Given the description of an element on the screen output the (x, y) to click on. 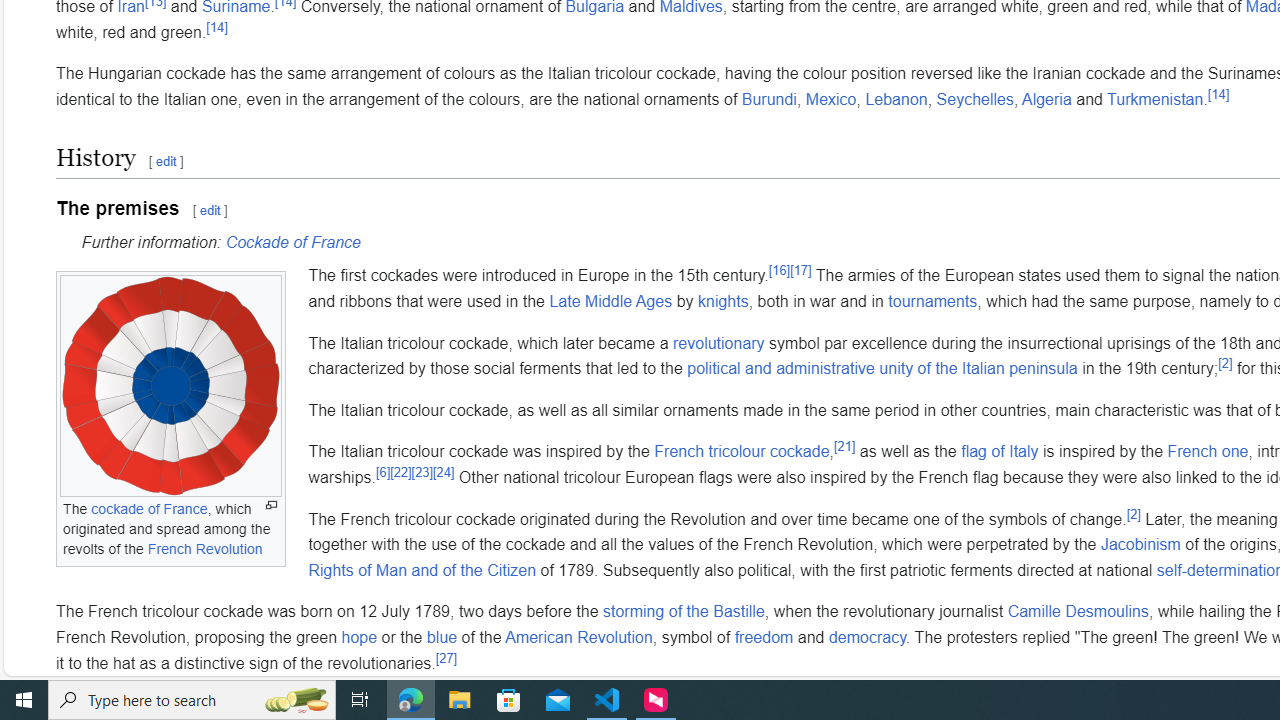
[17] (800, 270)
knights (722, 301)
Class: mw-file-description (171, 386)
[27] (446, 658)
American Revolution (578, 636)
Camille Desmoulins (1078, 611)
flag of Italy (1000, 451)
democracy (867, 636)
French tricolour cockade (741, 451)
edit (209, 210)
revolutionary (719, 343)
hope (358, 636)
[24] (443, 471)
Seychelles (974, 99)
blue (442, 636)
